Given the description of an element on the screen output the (x, y) to click on. 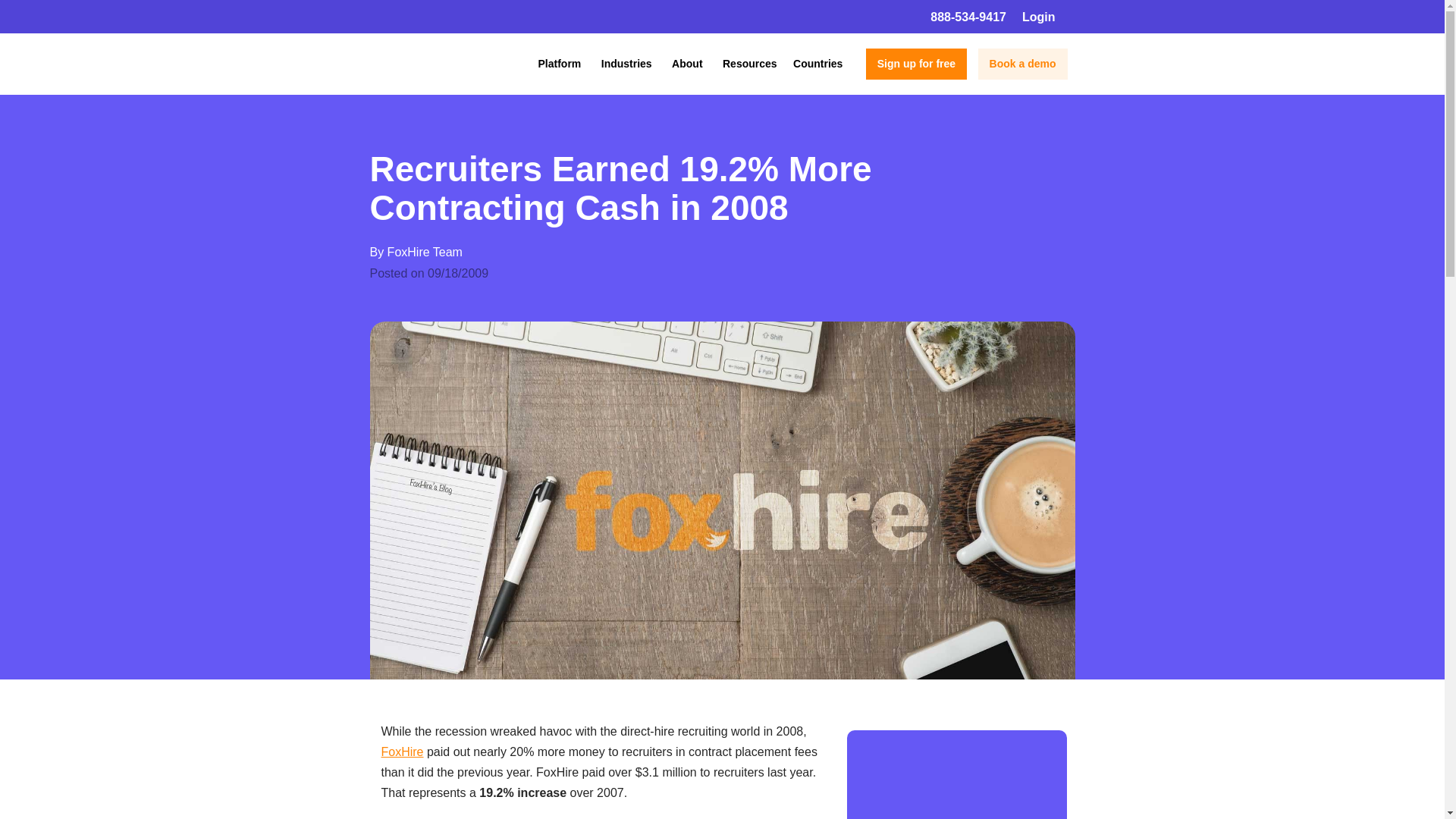
About (686, 64)
Book a demo (1022, 63)
Sign up for free (916, 63)
Countries (818, 64)
Resources (749, 64)
Login (1048, 16)
Industries (626, 64)
Platform (560, 64)
888-534-9417 (968, 16)
